Given the description of an element on the screen output the (x, y) to click on. 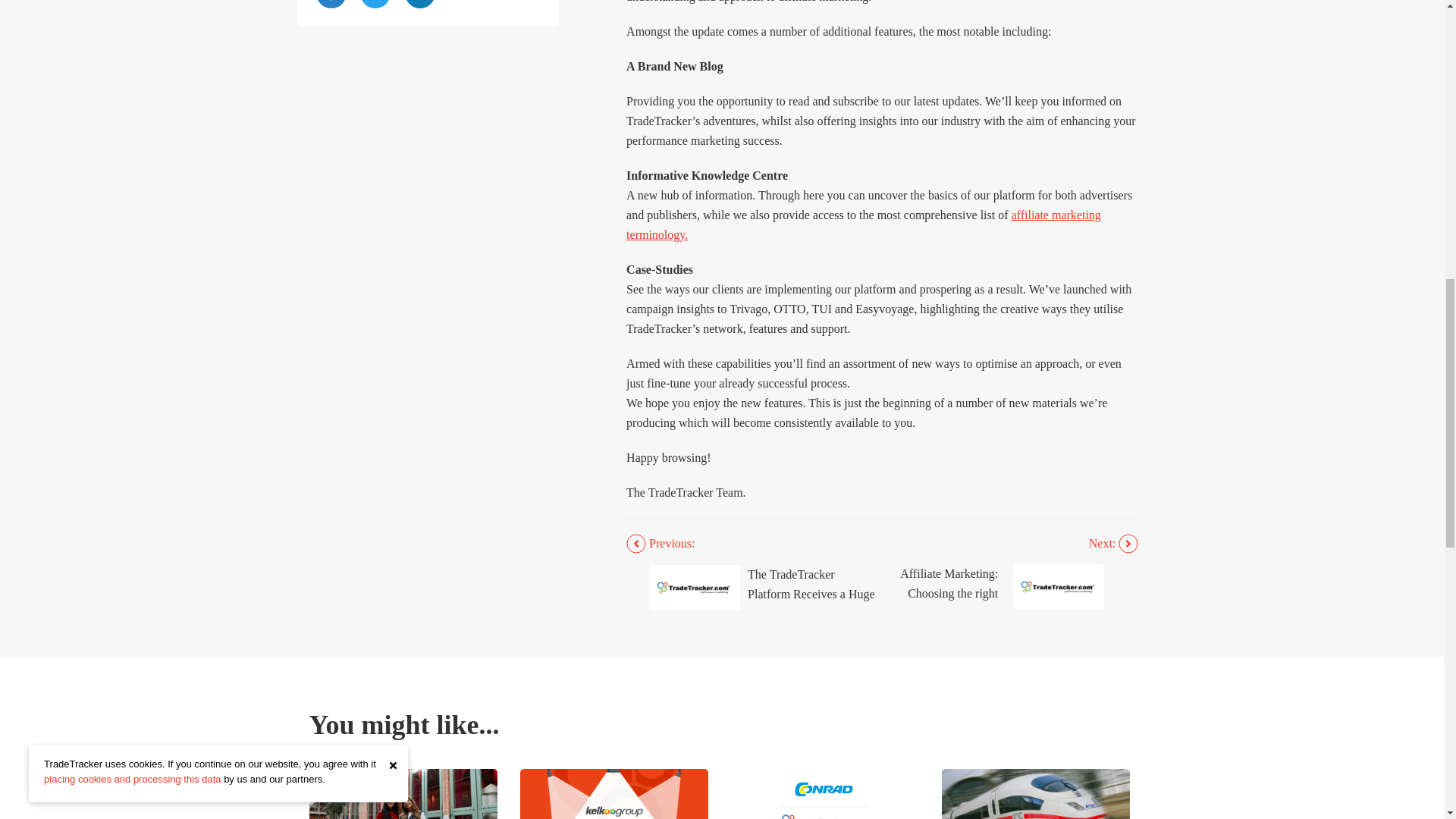
Share on Facebook (330, 4)
Share on LinkedIn (419, 4)
Share on Twitter (374, 4)
